Given the description of an element on the screen output the (x, y) to click on. 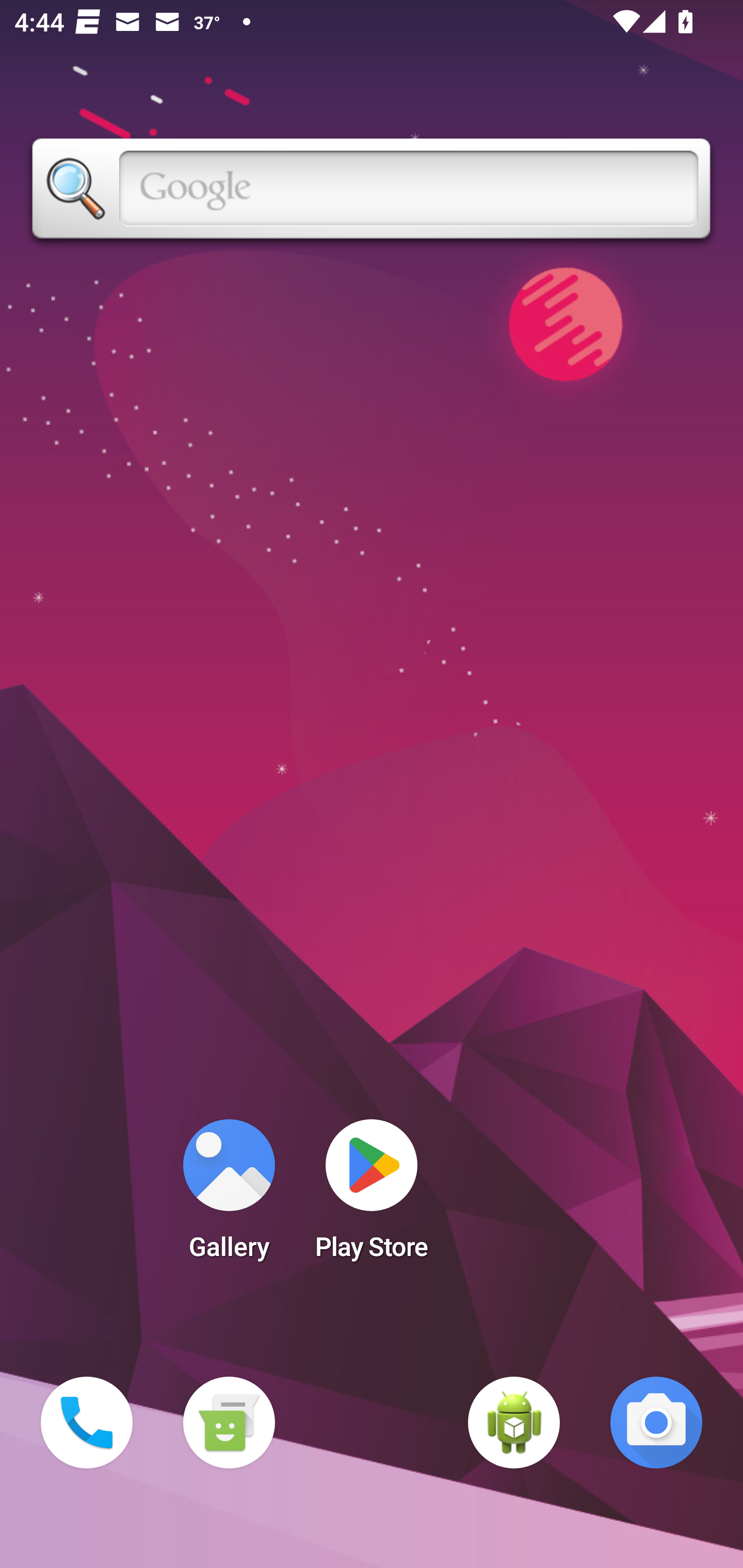
Gallery (228, 1195)
Play Store (371, 1195)
Phone (86, 1422)
Messaging (228, 1422)
WebView Browser Tester (513, 1422)
Camera (656, 1422)
